Given the description of an element on the screen output the (x, y) to click on. 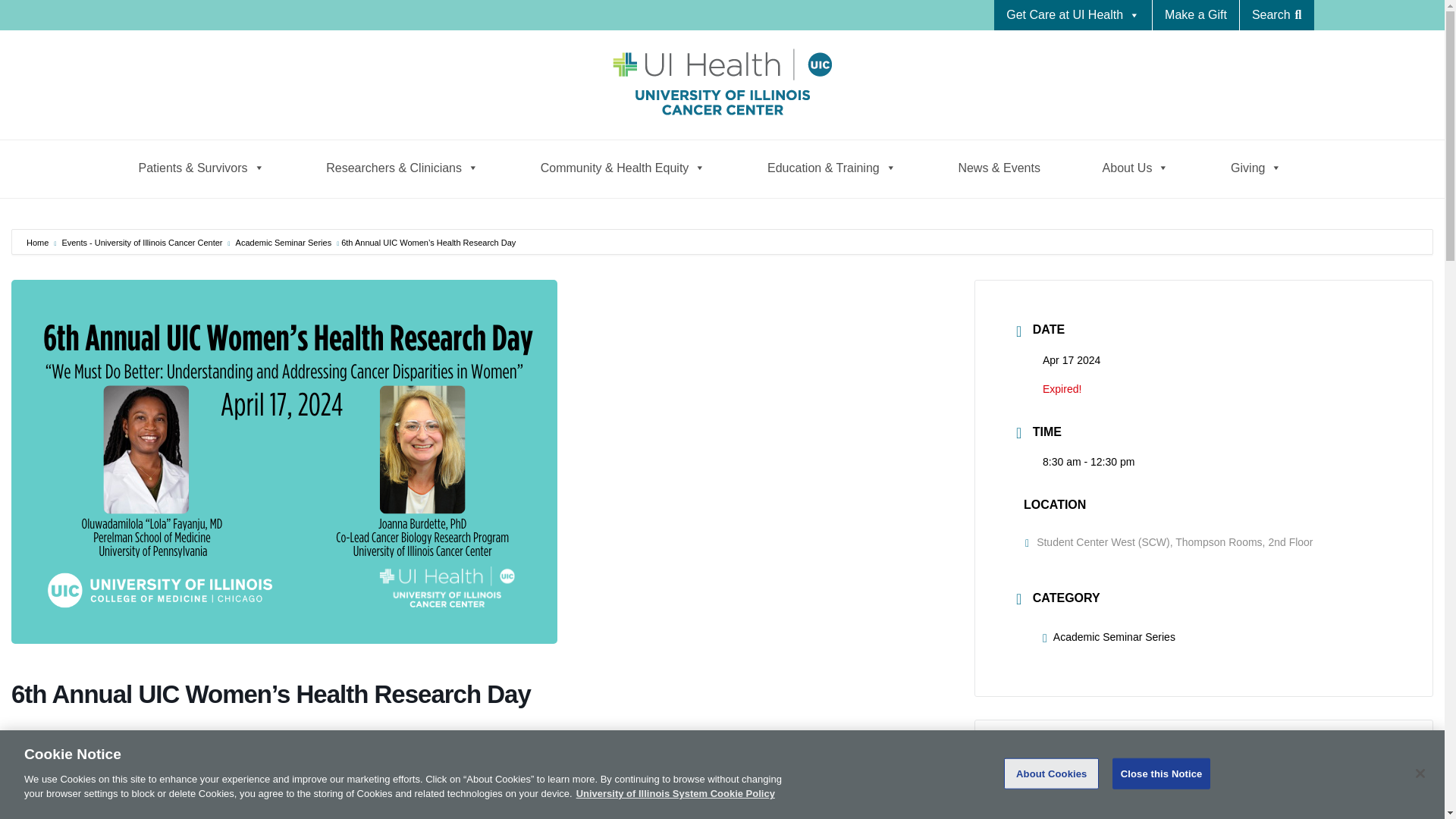
Search (68, 19)
Make a Gift (1196, 15)
Search (1277, 15)
Open in new tab (881, 814)
Get Care at UI Health (1072, 15)
